Given the description of an element on the screen output the (x, y) to click on. 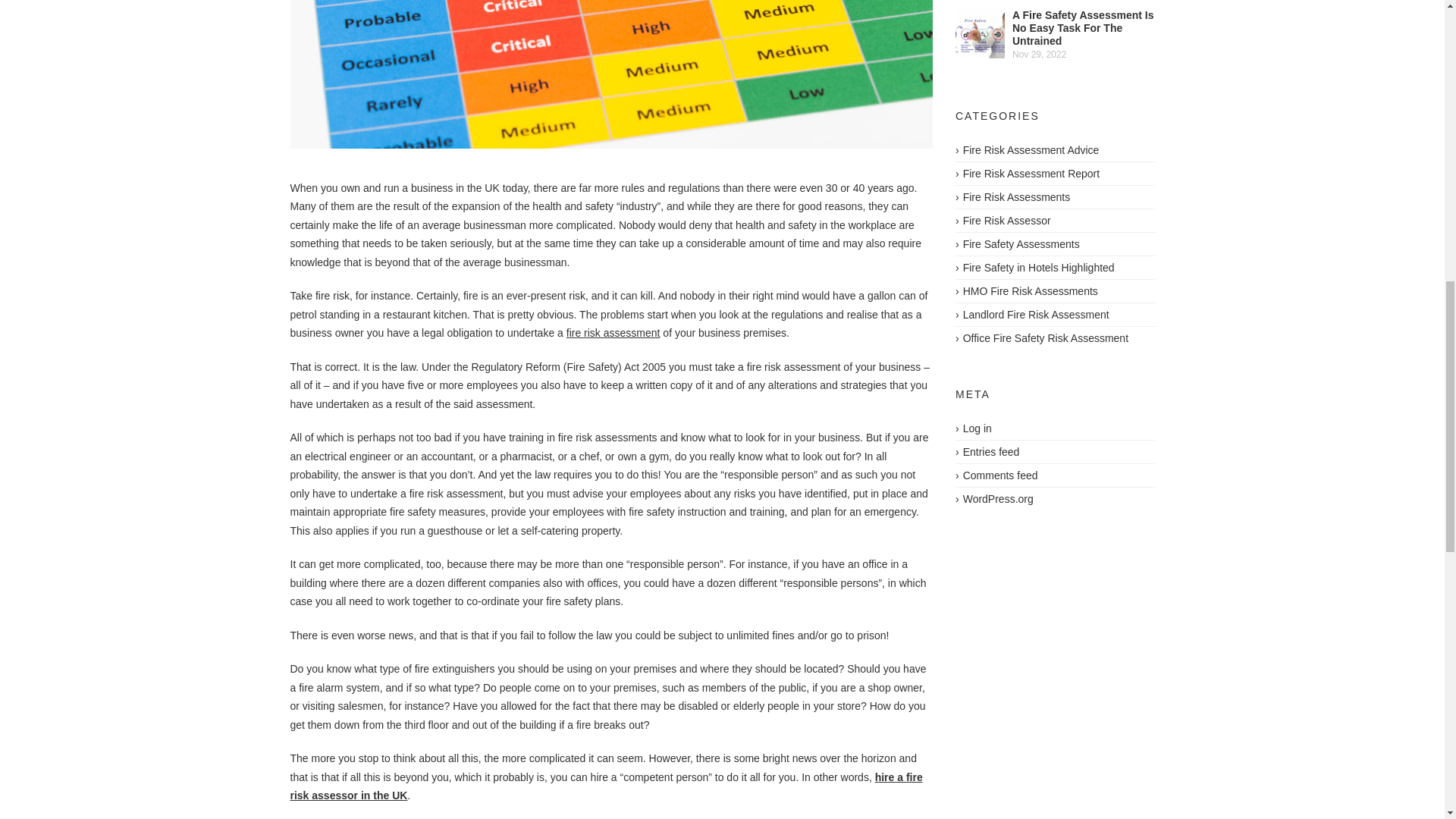
fire risk assessment (613, 332)
A Fire Safety Assessment Is No Easy Task For The Untrained (979, 33)
A Fire Safety Assessment Is No Easy Task For The Untrained (1082, 28)
hire a fire risk assessor in the UK (605, 786)
